Given the description of an element on the screen output the (x, y) to click on. 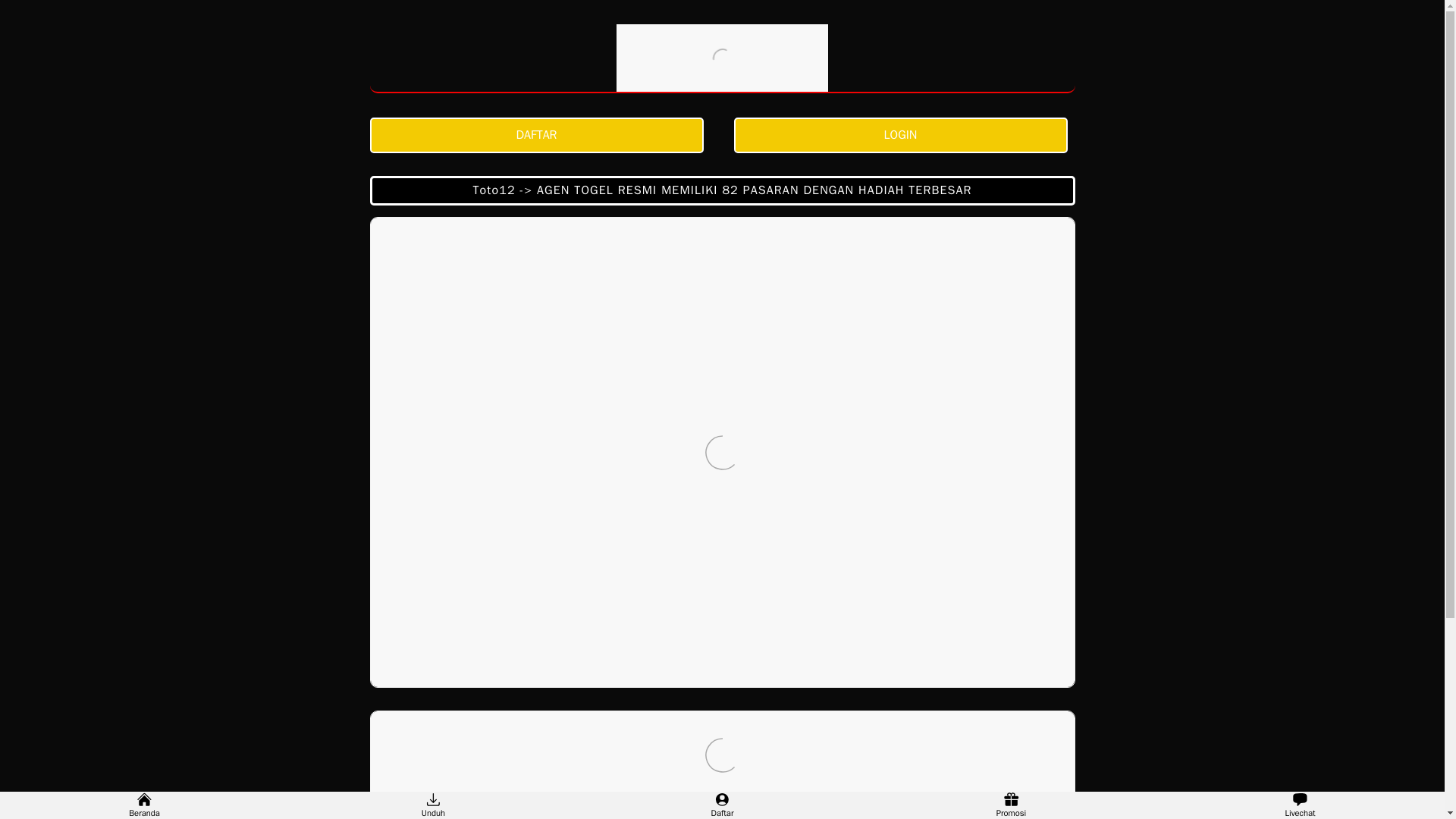
LOGIN (904, 135)
Daftar (722, 805)
Beranda (144, 805)
DAFTAR (540, 135)
Promosi (1011, 805)
Unduh (433, 805)
Toto12 (722, 57)
